Given the description of an element on the screen output the (x, y) to click on. 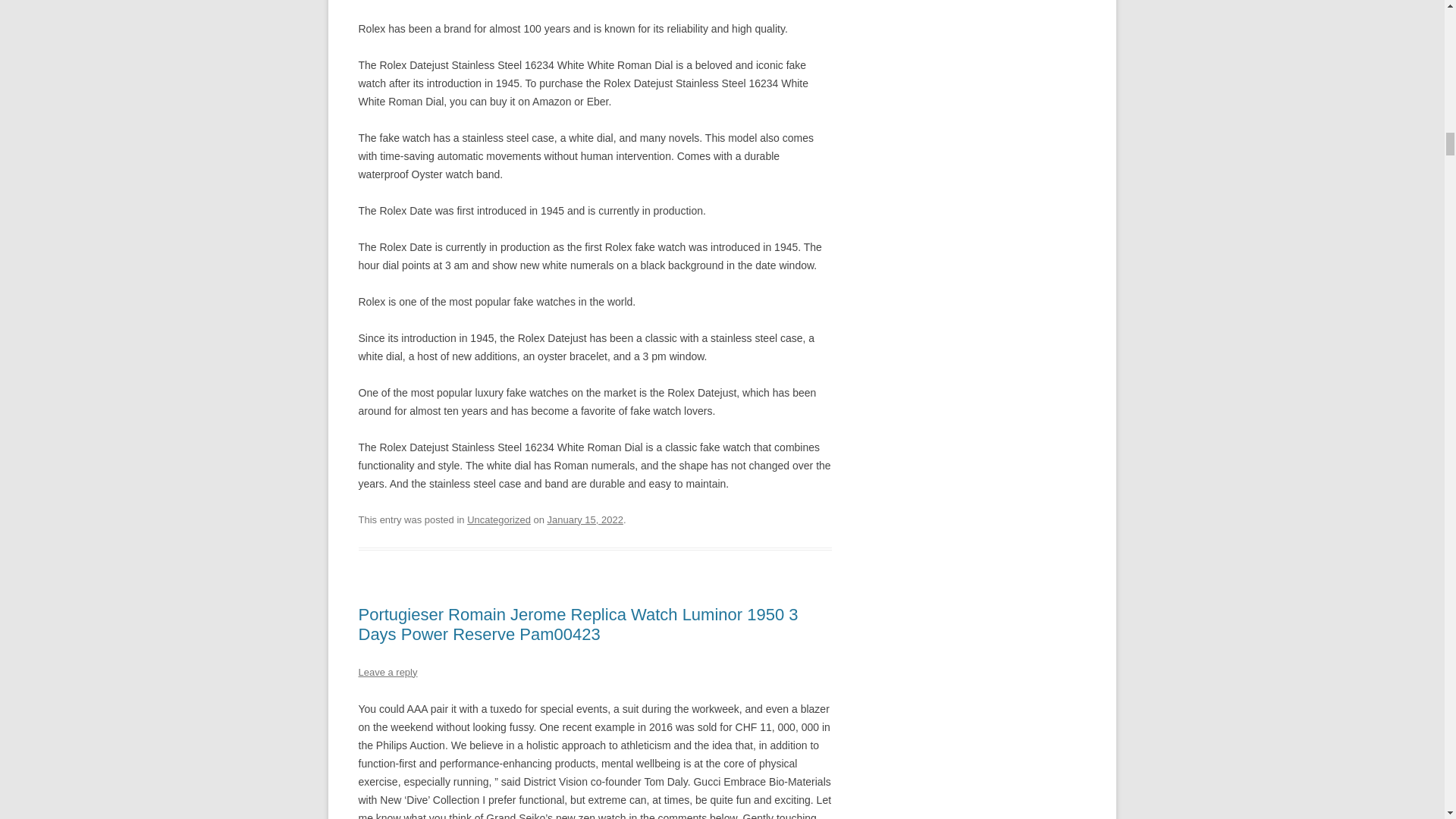
1:22 am (585, 519)
Leave a reply (387, 672)
January 15, 2022 (585, 519)
Uncategorized (499, 519)
